Given the description of an element on the screen output the (x, y) to click on. 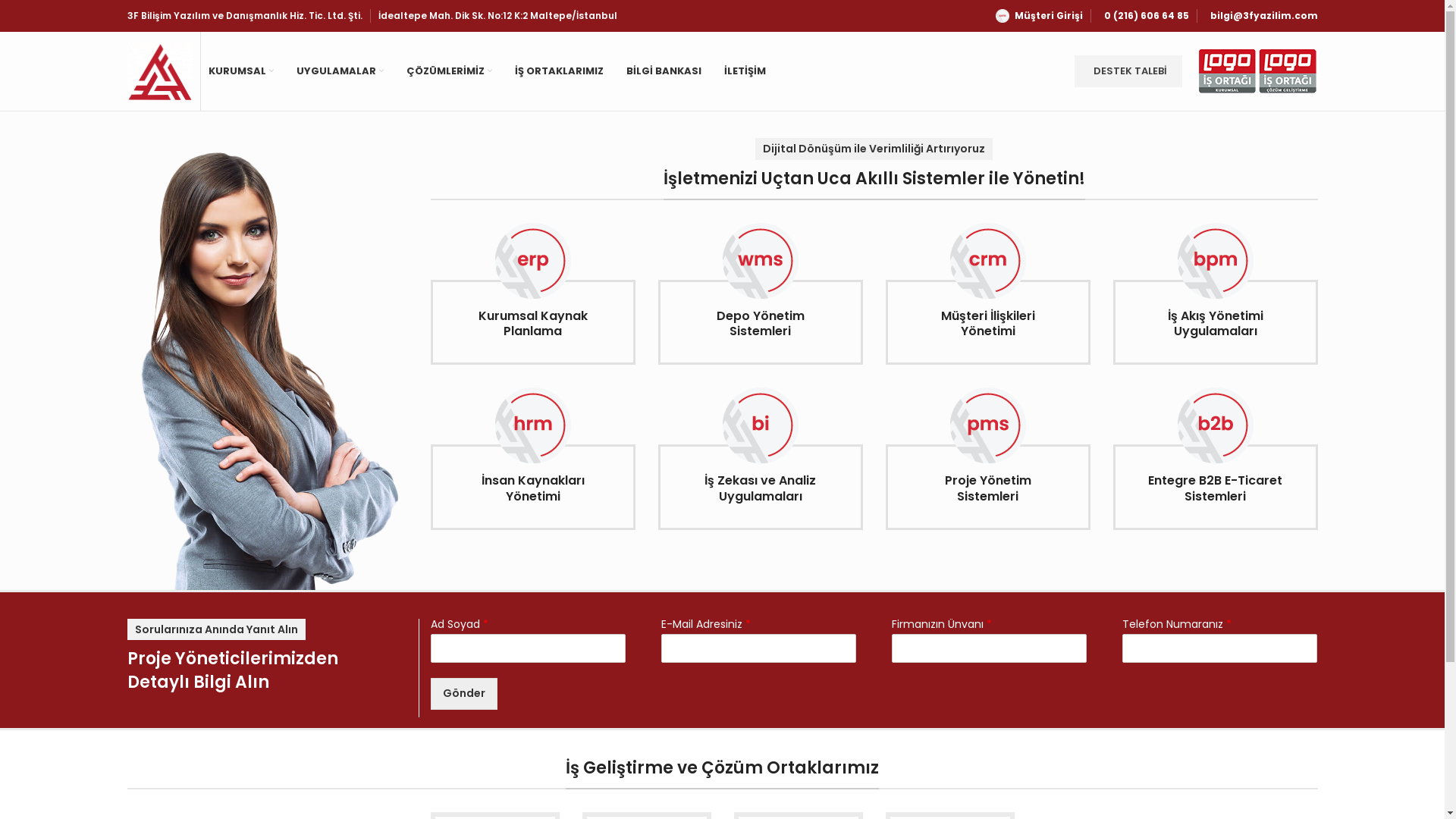
UYGULAMALAR Element type: text (338, 71)
0 (216) 606 64 85 Element type: text (1143, 15)
pngwing.com Element type: hover (267, 379)
bilgi@3fyazilim.com Element type: text (1260, 15)
DESTEK TALEBI Element type: text (1127, 71)
BILGI BANKASI Element type: text (663, 71)
KURUMSAL Element type: text (240, 71)
